Given the description of an element on the screen output the (x, y) to click on. 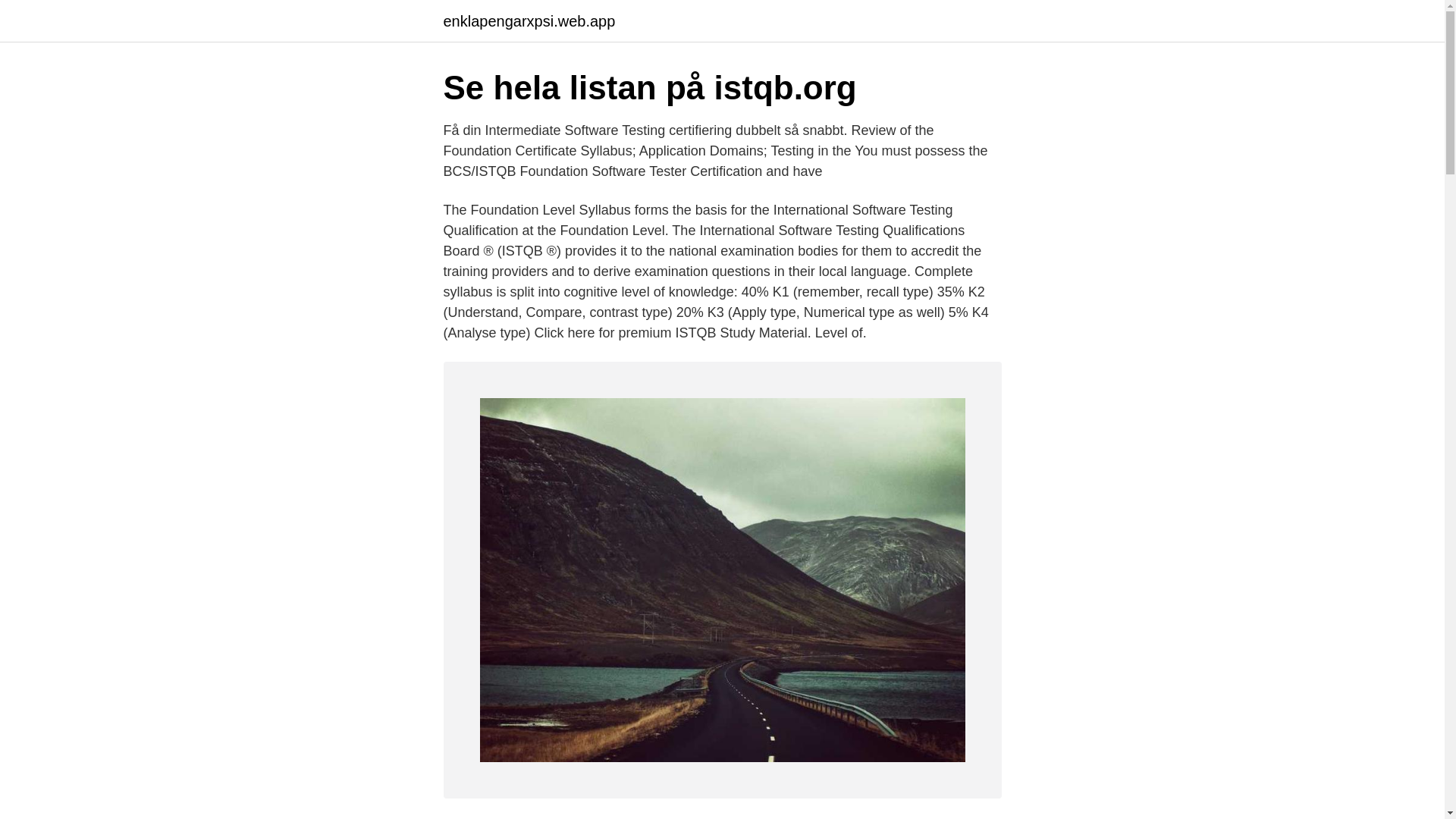
enklapengarxpsi.web.app (528, 20)
